Given the description of an element on the screen output the (x, y) to click on. 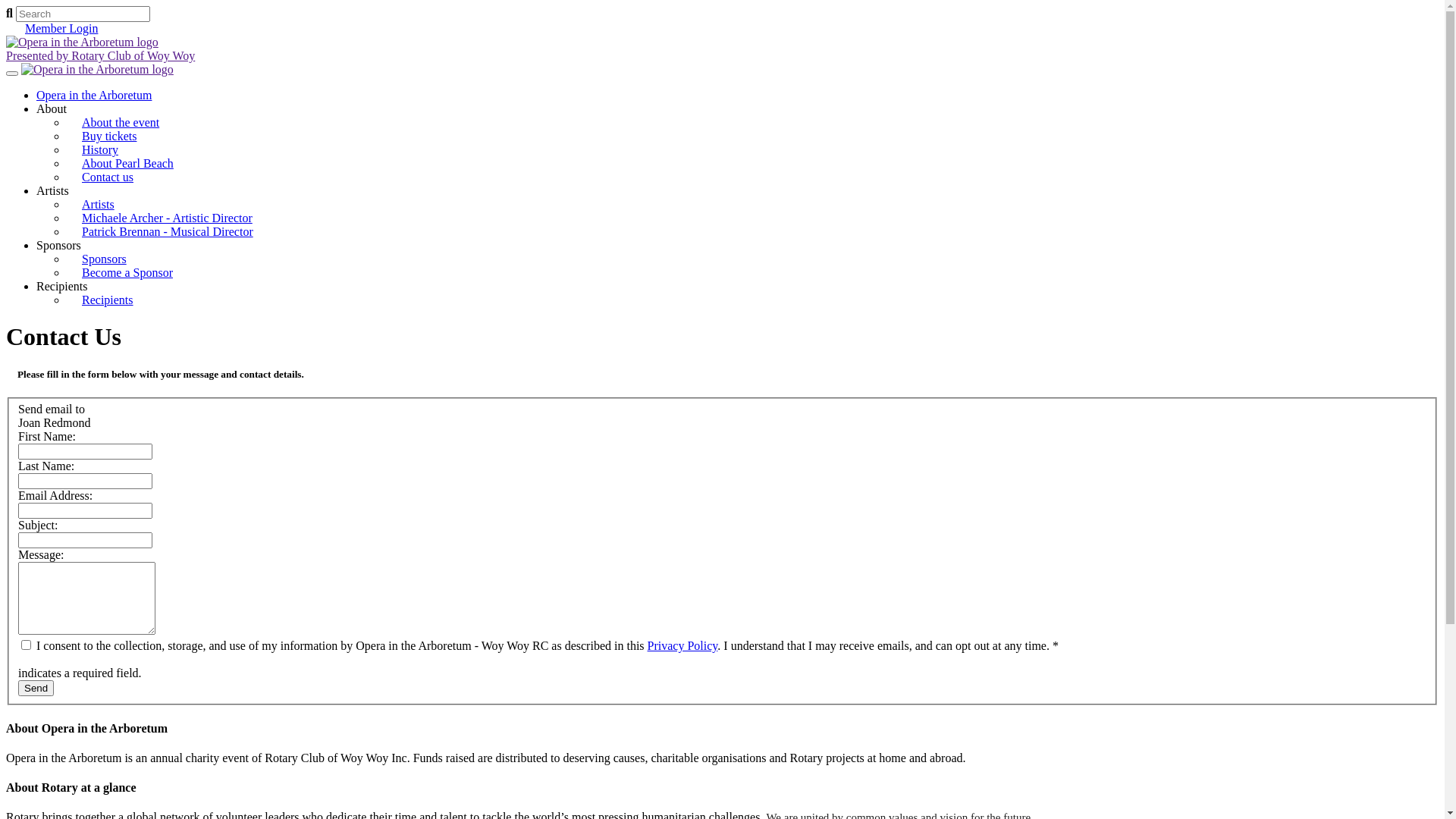
Send Element type: text (35, 688)
Contact us Element type: text (107, 176)
History Element type: text (99, 149)
Presented by Rotary Club of Woy Woy Element type: text (722, 48)
Toggle navigation Element type: text (12, 73)
Member Login Element type: text (61, 27)
Become a Sponsor Element type: text (127, 272)
About Pearl Beach Element type: text (127, 163)
Recipients Element type: text (107, 299)
Opera in the Arboretum Element type: text (93, 94)
Patrick Brennan - Musical Director Element type: text (167, 231)
Artists Element type: text (97, 204)
Recipients Element type: text (61, 285)
Sponsors Element type: text (103, 258)
About the event Element type: text (120, 122)
Sponsors Element type: text (58, 244)
Buy tickets Element type: text (108, 135)
About Element type: text (51, 108)
Privacy Policy Element type: text (682, 645)
Michaele Archer - Artistic Director Element type: text (166, 217)
Artists Element type: text (52, 190)
